Given the description of an element on the screen output the (x, y) to click on. 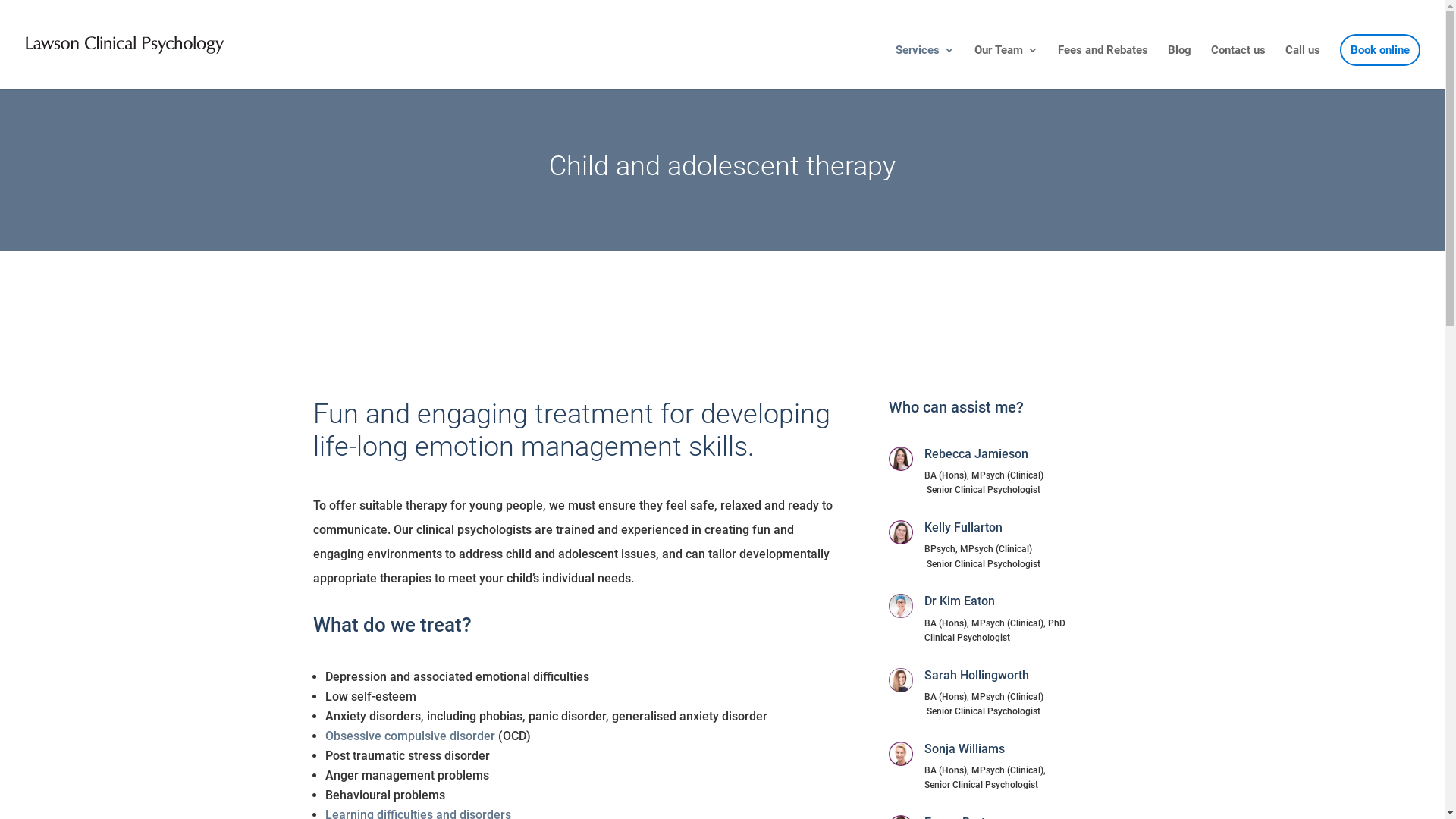
Fees and Rebates Element type: text (1102, 66)
Services Element type: text (924, 66)
Our Team Element type: text (1006, 66)
Blog Element type: text (1179, 66)
Call us Element type: text (1302, 66)
Obsessive compulsive disorder Element type: text (410, 735)
Contact us Element type: text (1238, 66)
Book online Element type: text (1379, 66)
